Given the description of an element on the screen output the (x, y) to click on. 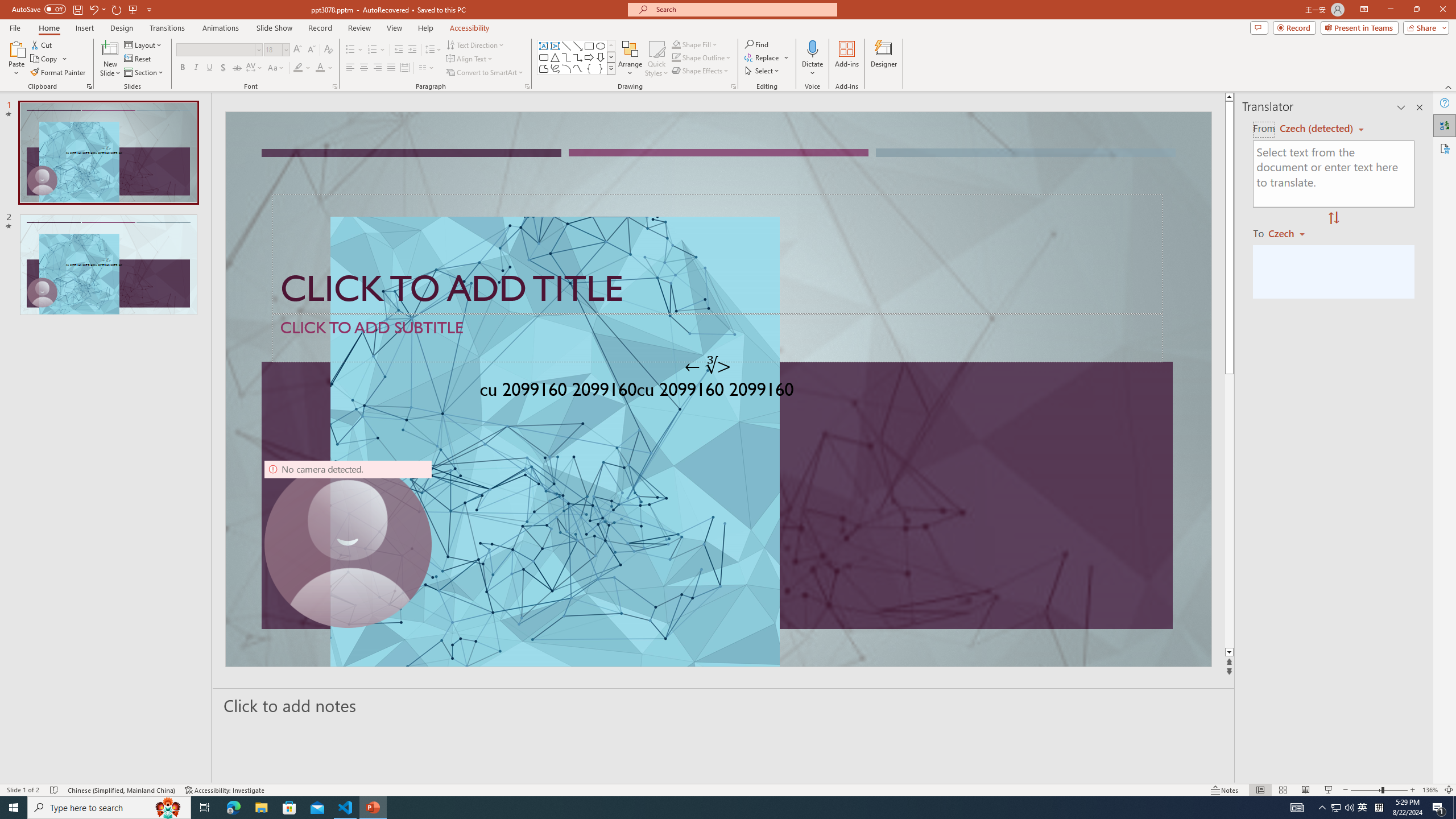
TextBox 61 (716, 391)
Change Case (276, 67)
Bullets (354, 49)
Italic (195, 67)
Font (215, 49)
Left Brace (589, 68)
An abstract genetic concept (718, 389)
Layout (143, 44)
Spell Check No Errors (54, 790)
